Given the description of an element on the screen output the (x, y) to click on. 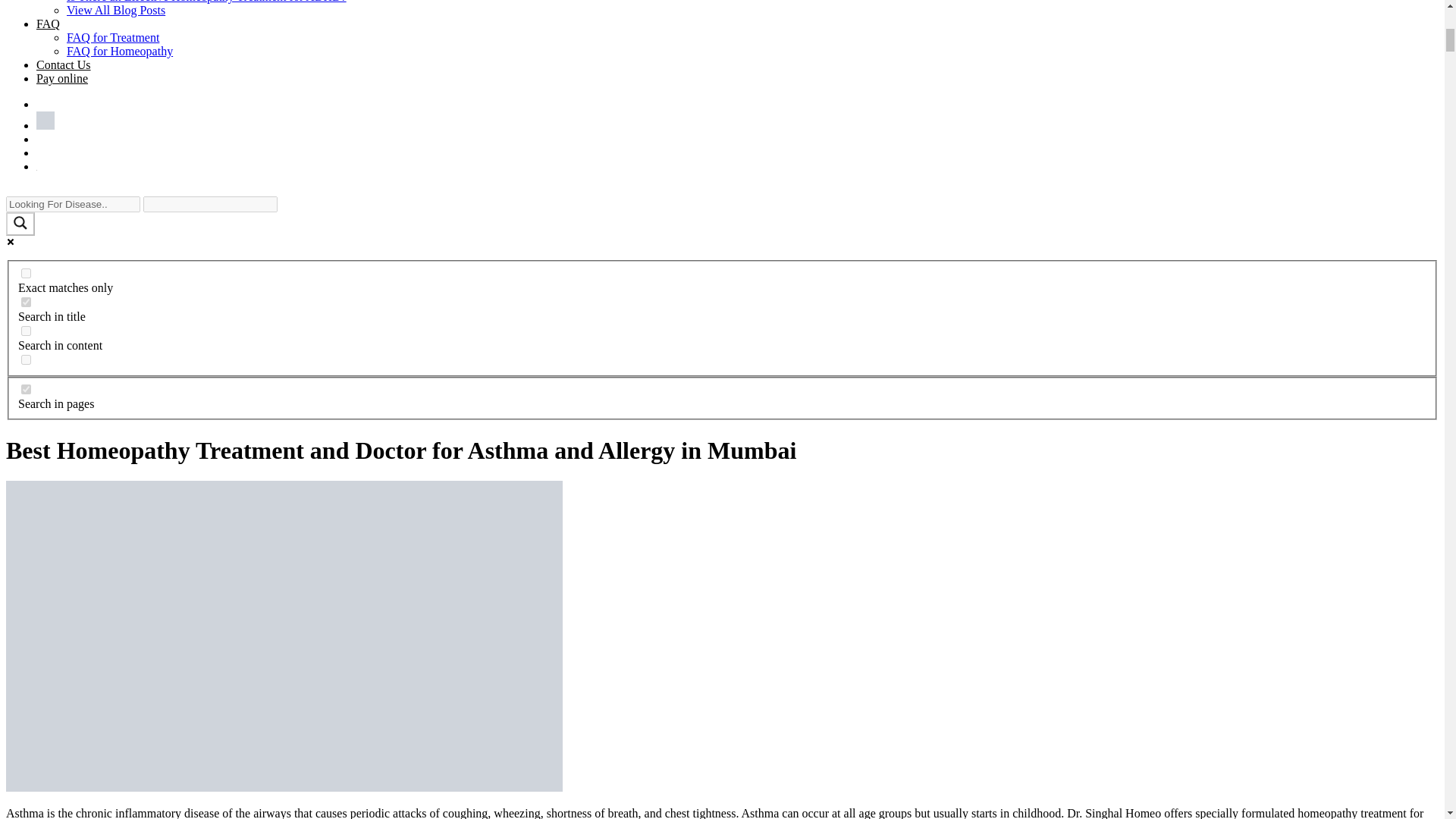
exact (25, 273)
excerpt (25, 359)
content (25, 330)
title (25, 302)
page (25, 388)
